Given the description of an element on the screen output the (x, y) to click on. 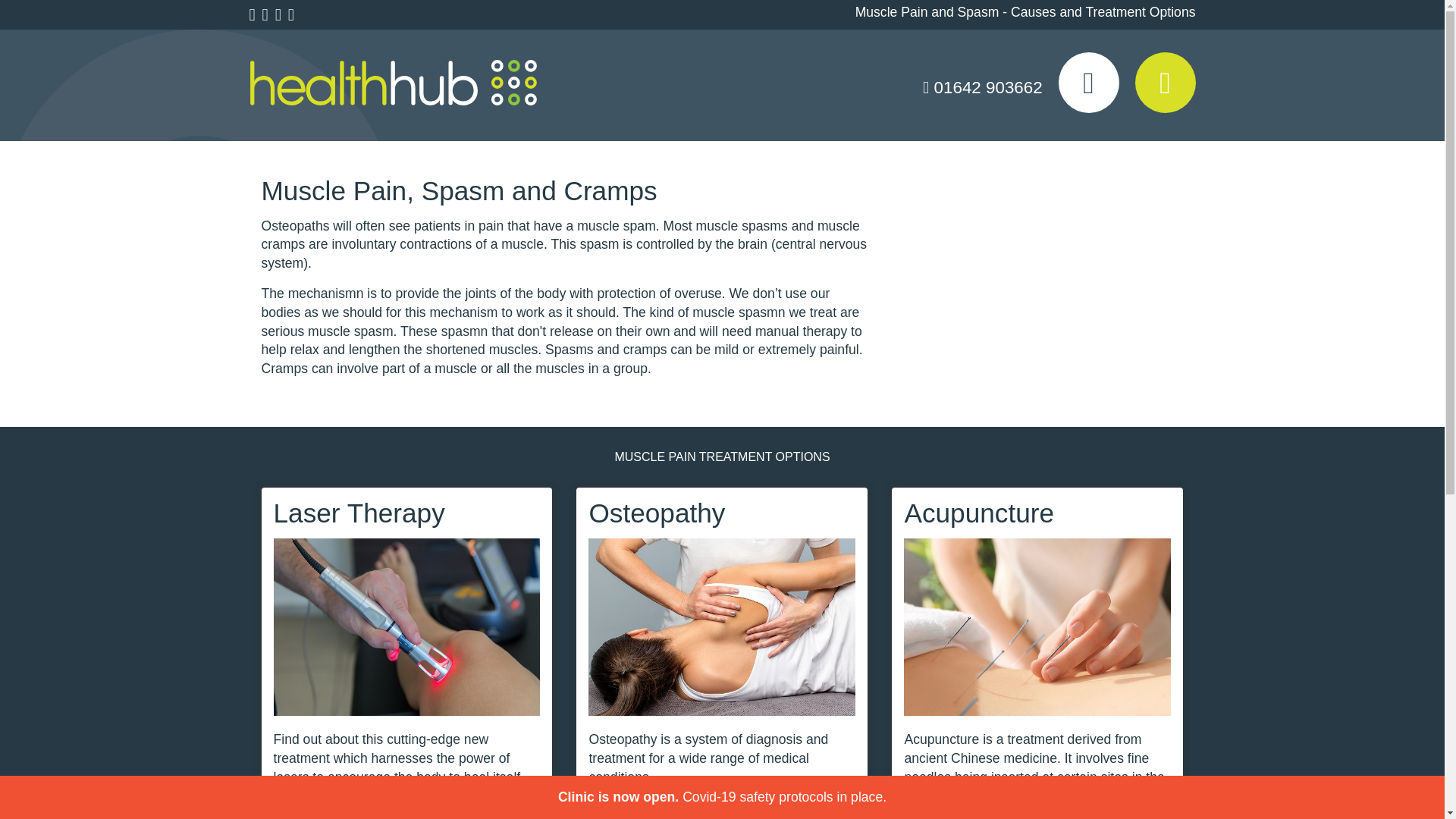
01642 903662 (982, 87)
Health Hub Clinics (392, 82)
Health Hub Clinics (392, 82)
Book Appointments Online (1164, 82)
